Given the description of an element on the screen output the (x, y) to click on. 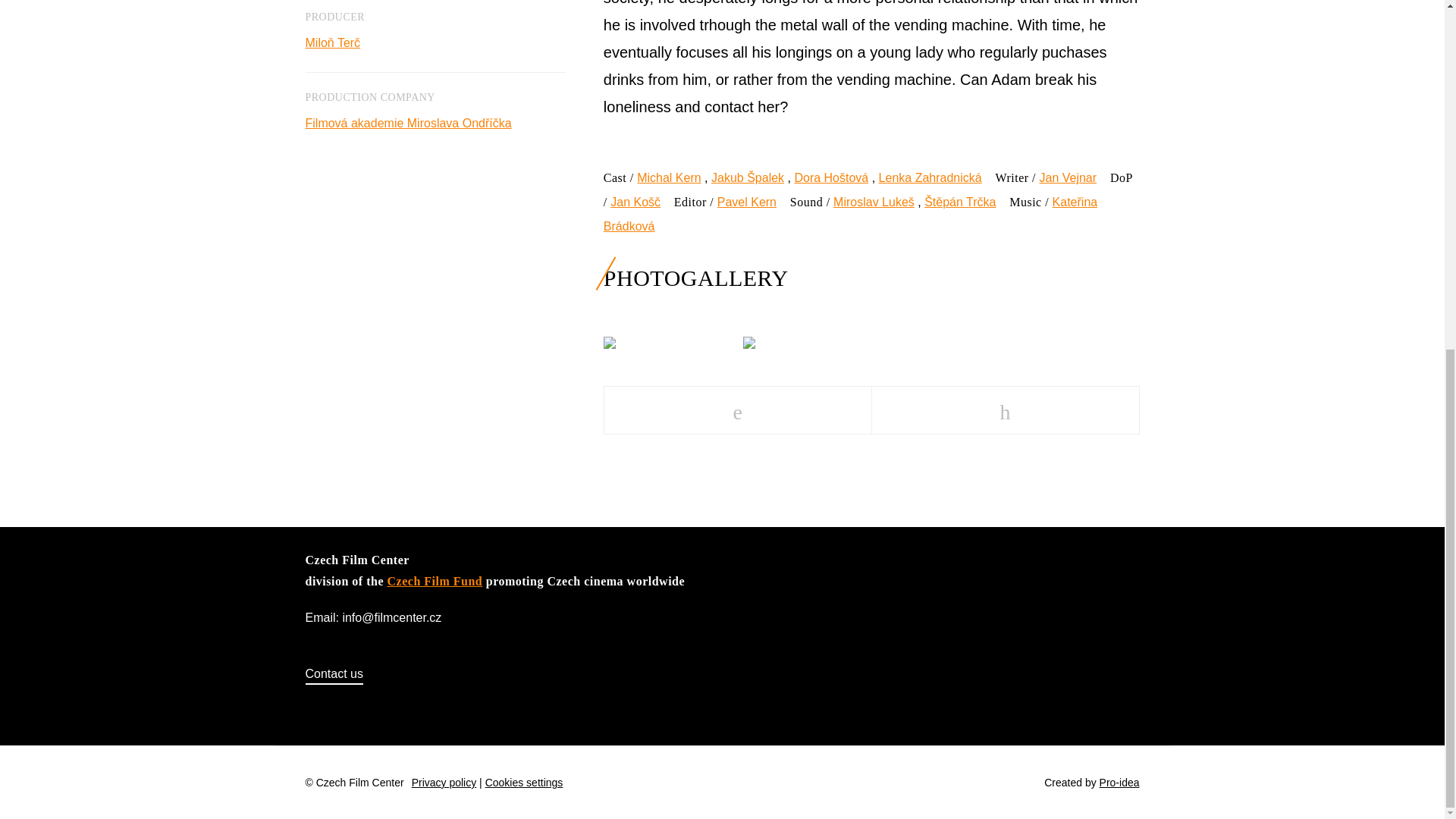
Pavel Kern (746, 201)
Michal Kern (668, 177)
Czech Film Fund (435, 581)
Jan Vejnar (1067, 177)
